Given the description of an element on the screen output the (x, y) to click on. 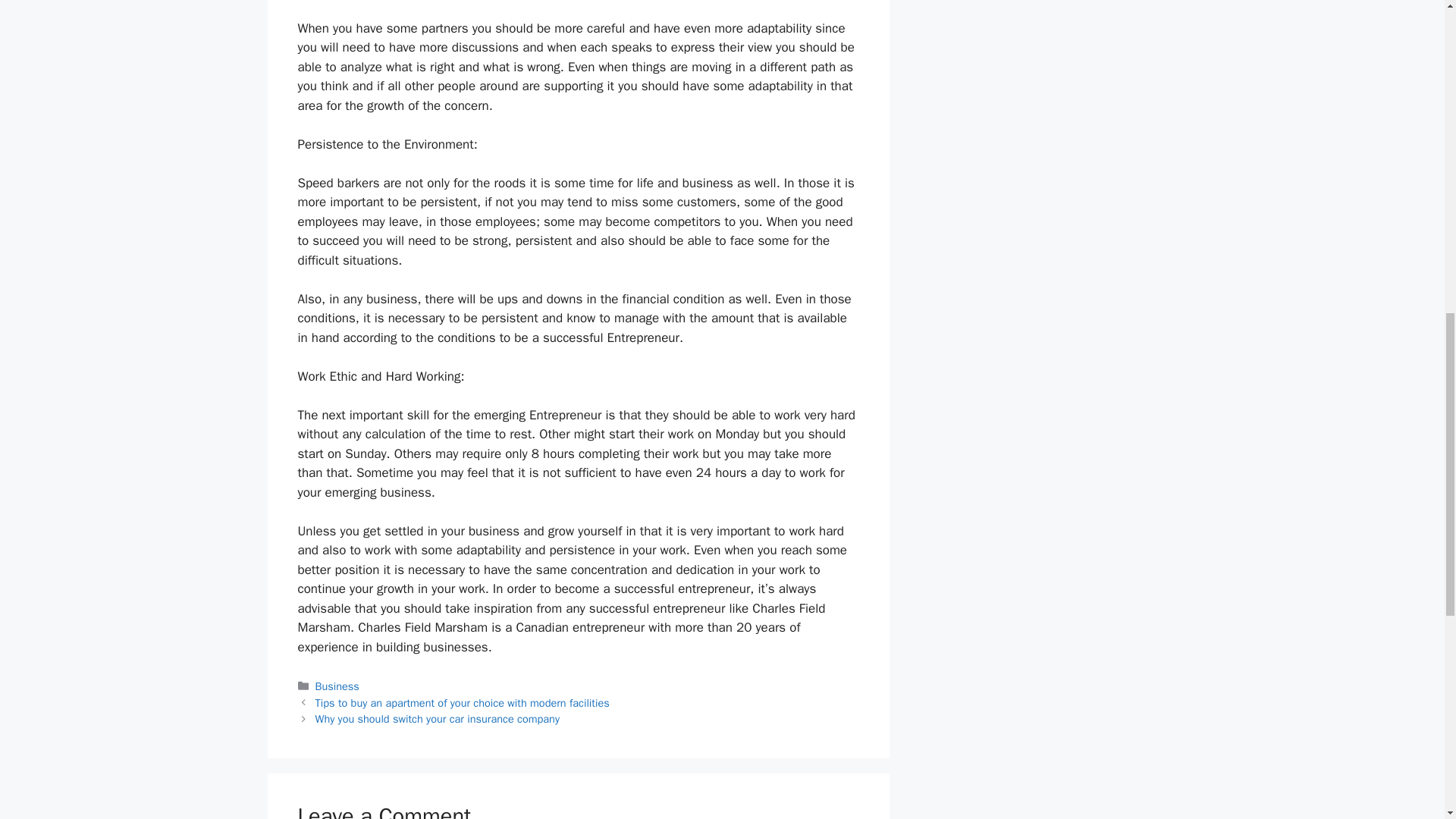
Business (337, 685)
Why you should switch your car insurance company (437, 718)
